Given the description of an element on the screen output the (x, y) to click on. 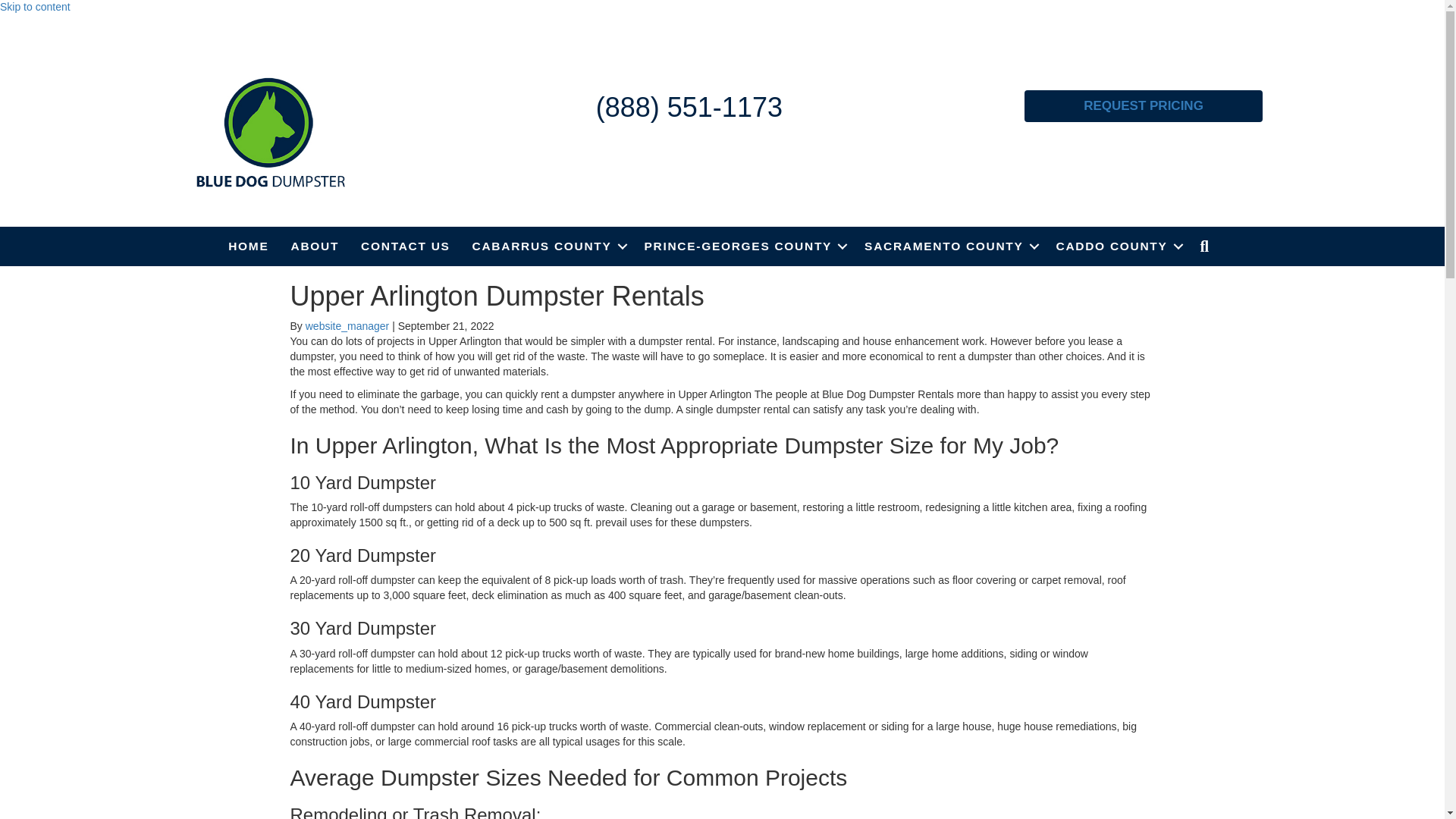
Skip to content (34, 6)
HOME (247, 246)
SACRAMENTO COUNTY (948, 246)
REQUEST PRICING (1144, 106)
ABOUT (315, 246)
bluedogdumpster (269, 131)
CABARRUS COUNTY (547, 246)
CONTACT US (405, 246)
PRINCE-GEORGES COUNTY (743, 246)
